Given the description of an element on the screen output the (x, y) to click on. 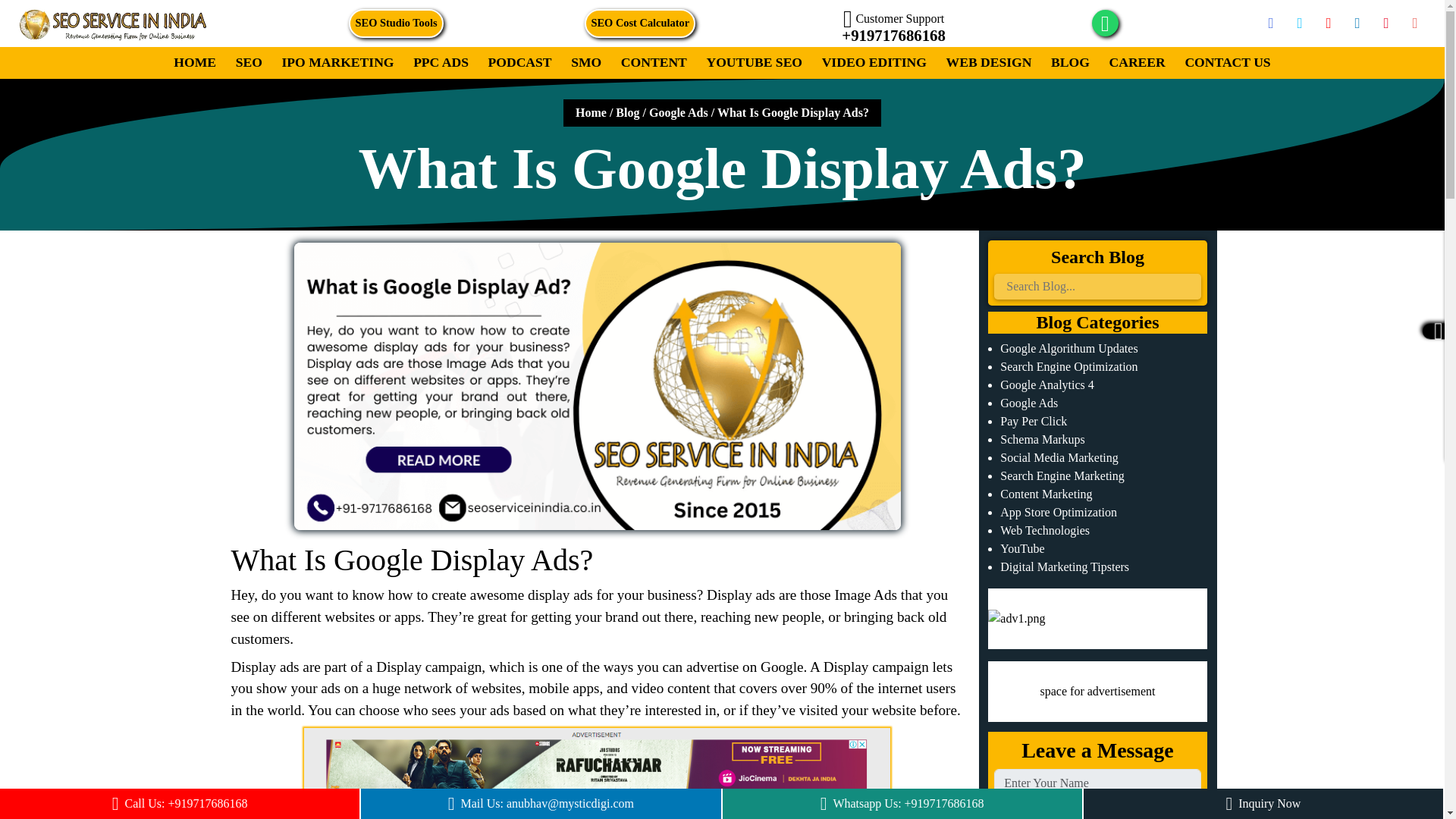
free seo tools (396, 23)
seo cost calculator india (640, 23)
SEO Cost Calculator (640, 23)
HOME (194, 62)
SEO Studio Tools (396, 23)
facebook (1270, 22)
SEO (248, 62)
